Given the description of an element on the screen output the (x, y) to click on. 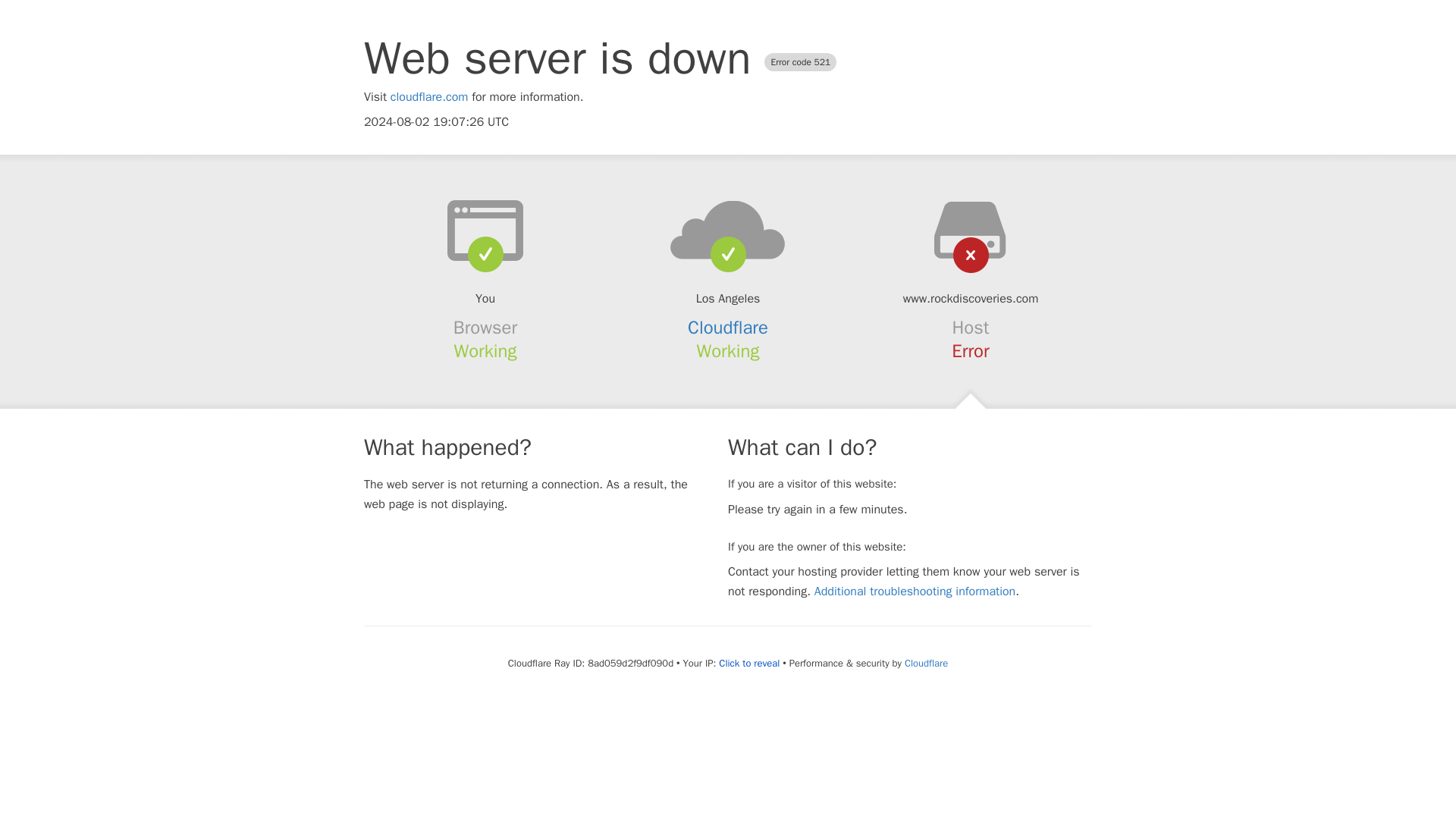
Cloudflare (727, 327)
Click to reveal (748, 663)
cloudflare.com (429, 96)
Cloudflare (925, 662)
Additional troubleshooting information (913, 590)
